Given the description of an element on the screen output the (x, y) to click on. 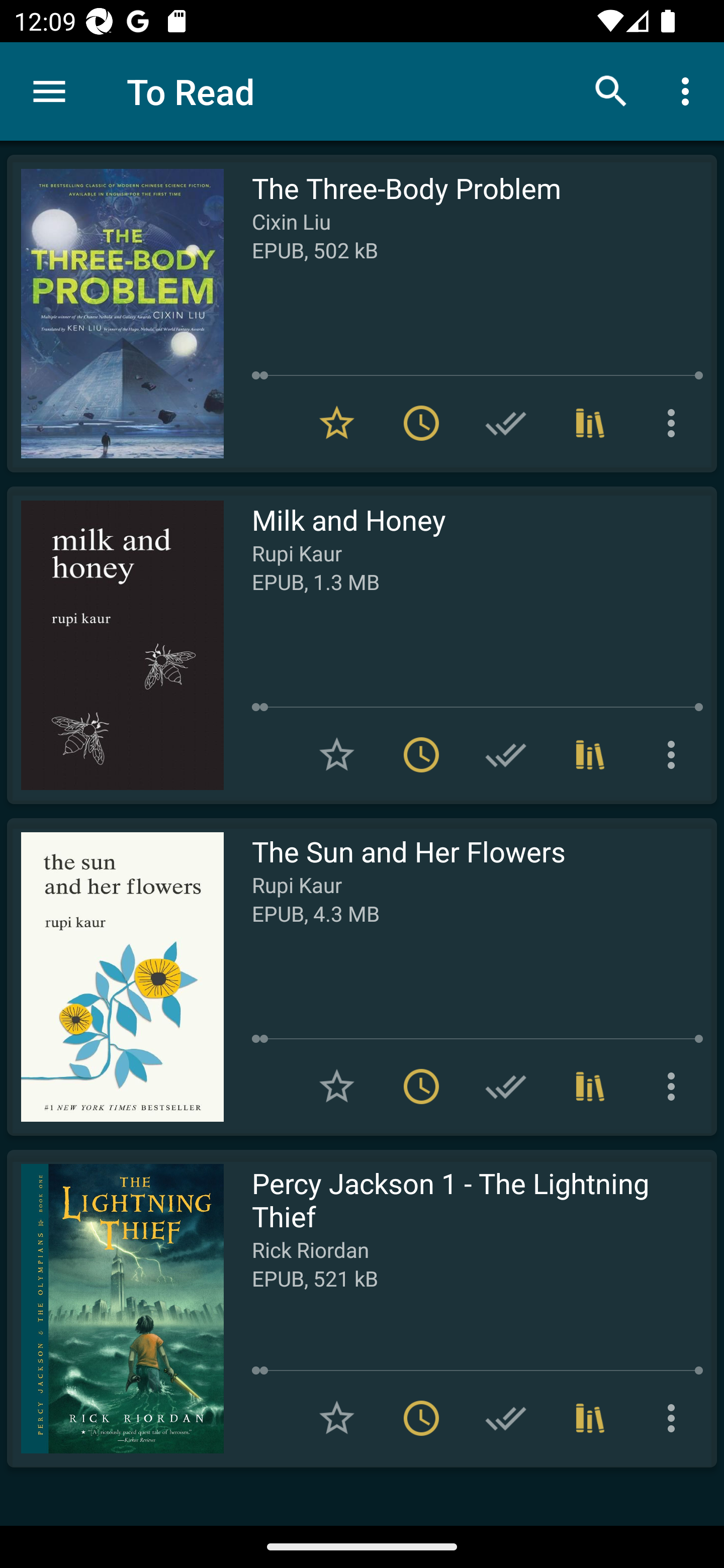
Menu (49, 91)
Search books & documents (611, 90)
More options (688, 90)
Read The Three-Body Problem (115, 313)
Remove from Favorites (336, 423)
Remove from To read (421, 423)
Add to Have read (505, 423)
Collections (1) (590, 423)
More options (674, 423)
Read Milk and Honey (115, 645)
Add to Favorites (336, 753)
Remove from To read (421, 753)
Add to Have read (505, 753)
Collections (2) (590, 753)
More options (674, 753)
Read The Sun and Her Flowers (115, 976)
Add to Favorites (336, 1086)
Remove from To read (421, 1086)
Add to Have read (505, 1086)
Collections (1) (590, 1086)
More options (674, 1086)
Read Percy Jackson 1 - The Lightning Thief (115, 1308)
Add to Favorites (336, 1417)
Remove from To read (421, 1417)
Add to Have read (505, 1417)
Collections (1) (590, 1417)
More options (674, 1417)
